Given the description of an element on the screen output the (x, y) to click on. 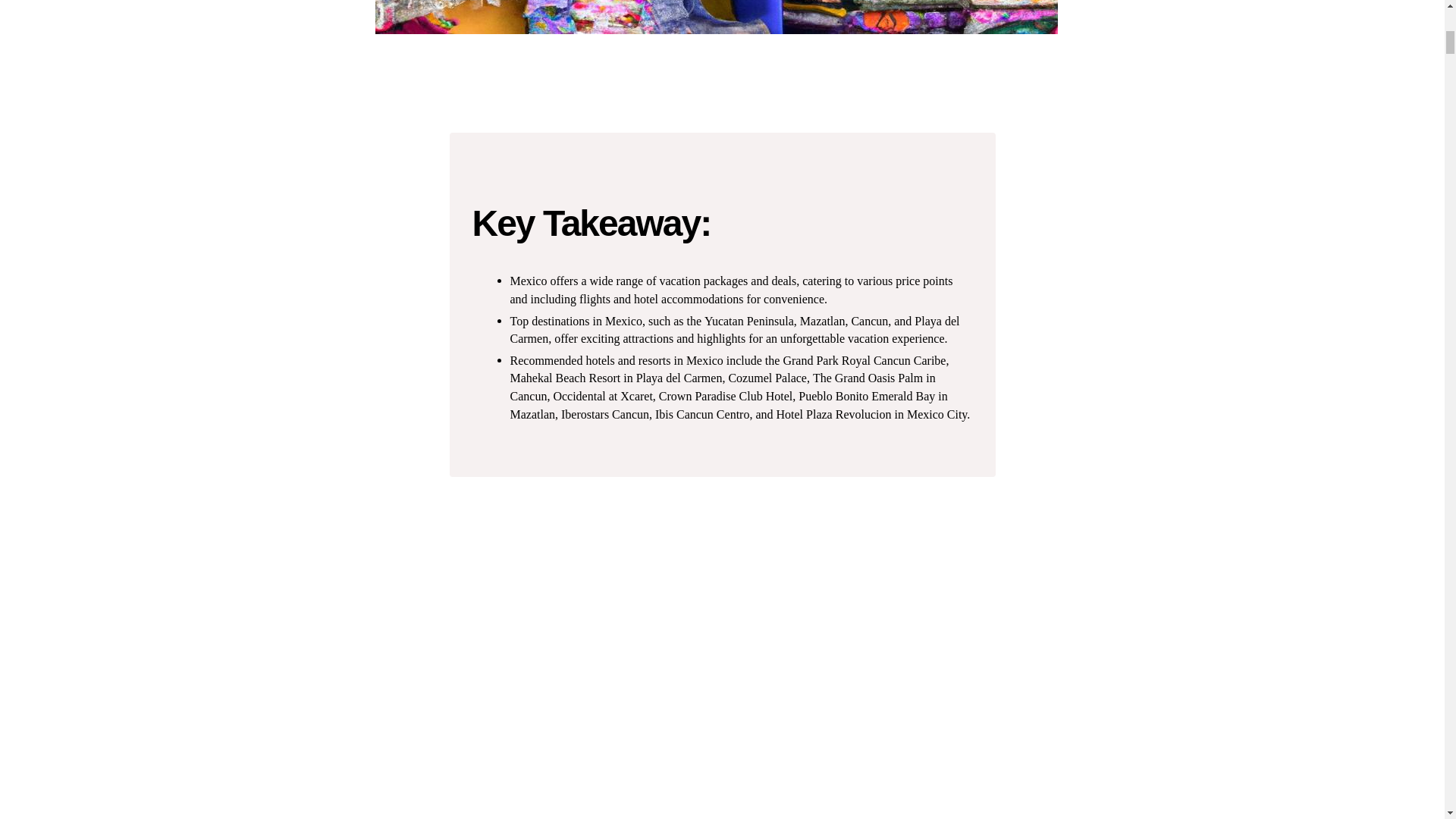
Best Mexico Travel Deals (716, 17)
